Given the description of an element on the screen output the (x, y) to click on. 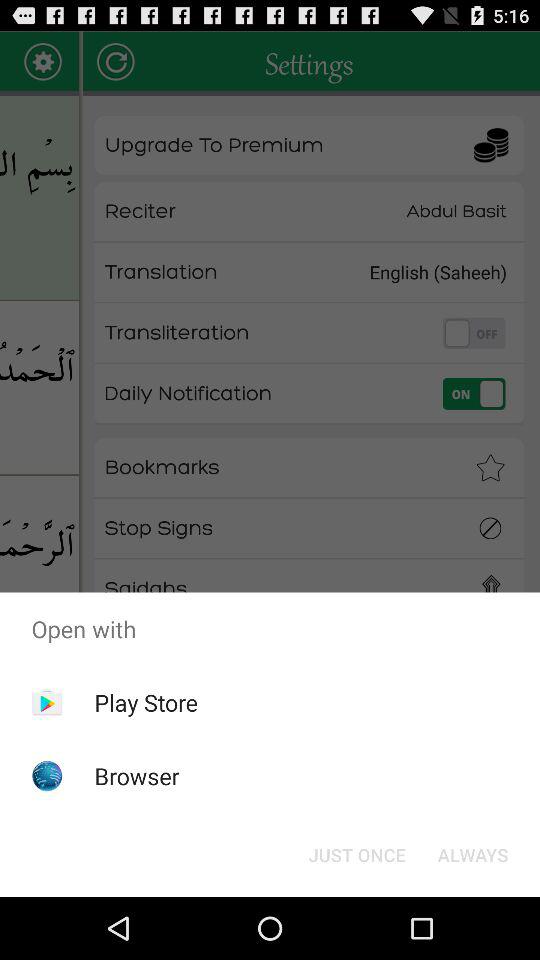
jump until the play store icon (146, 702)
